Given the description of an element on the screen output the (x, y) to click on. 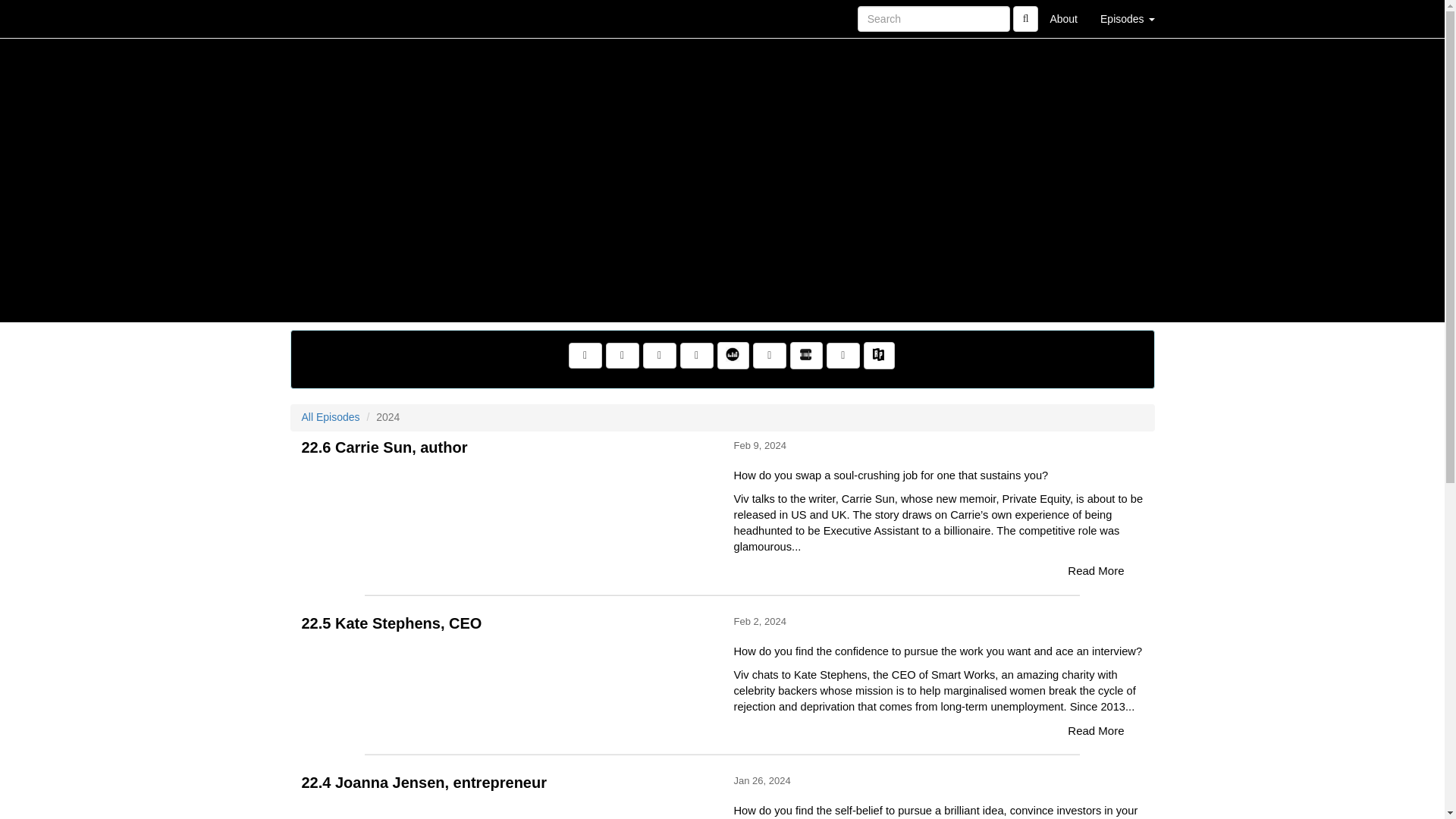
Listen on Apple Podcasts (769, 355)
Home Page (320, 18)
22.4 Joanna Jensen, entrepreneur (506, 806)
Listen on Deezer (733, 355)
Listen on Spotify (843, 355)
Email This Podcast (660, 355)
Visit Us on Twitter (622, 355)
22.5 Kate Stephens, CEO (506, 669)
22.6 Carrie Sun, author (506, 493)
Visit Us on Facebook (585, 355)
